Given the description of an element on the screen output the (x, y) to click on. 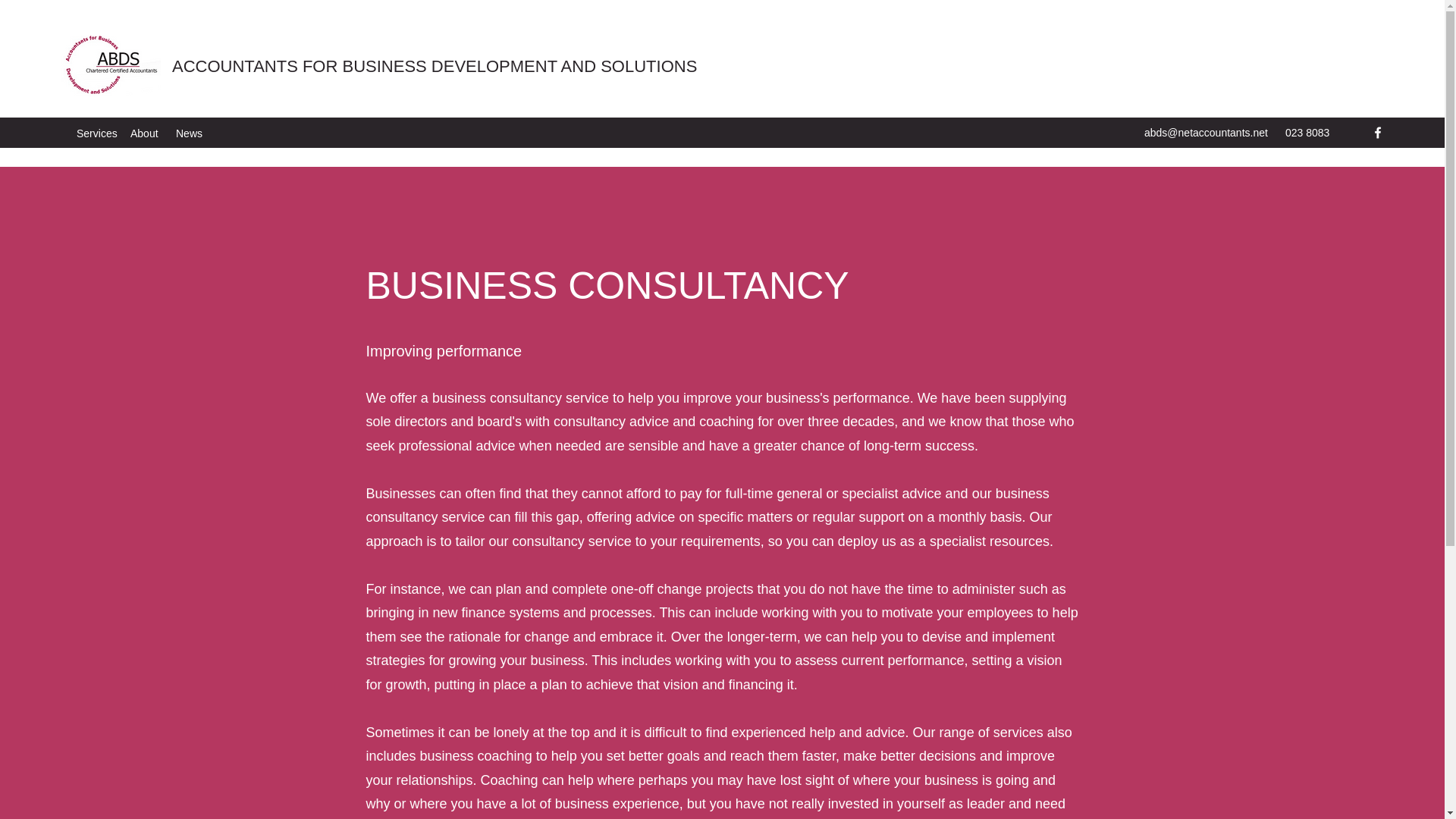
News (188, 133)
About (145, 133)
business consultancy (497, 396)
Services (95, 133)
ACCOUNTANTS FOR BUSINESS DEVELOPMENT AND SOLUTIONS (434, 66)
